Given the description of an element on the screen output the (x, y) to click on. 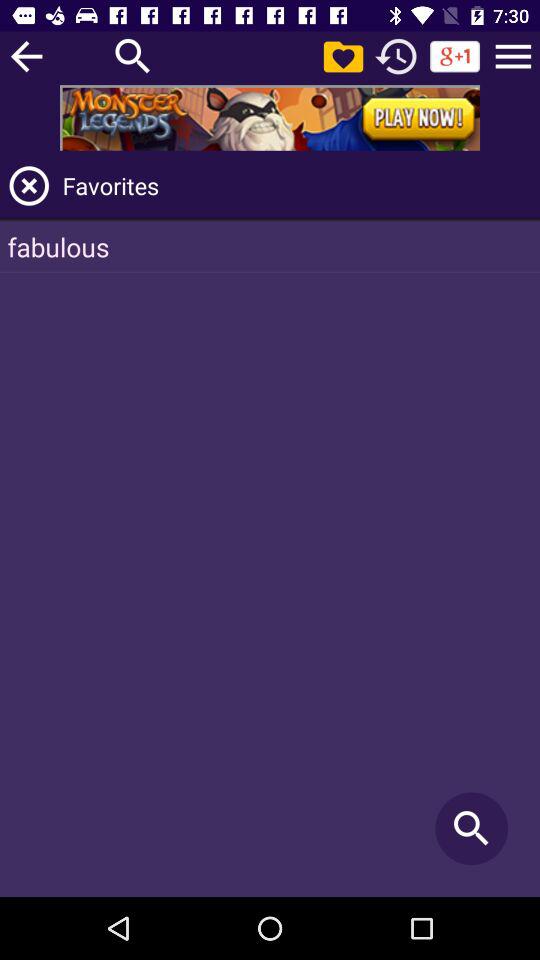
see the menu (513, 56)
